Given the description of an element on the screen output the (x, y) to click on. 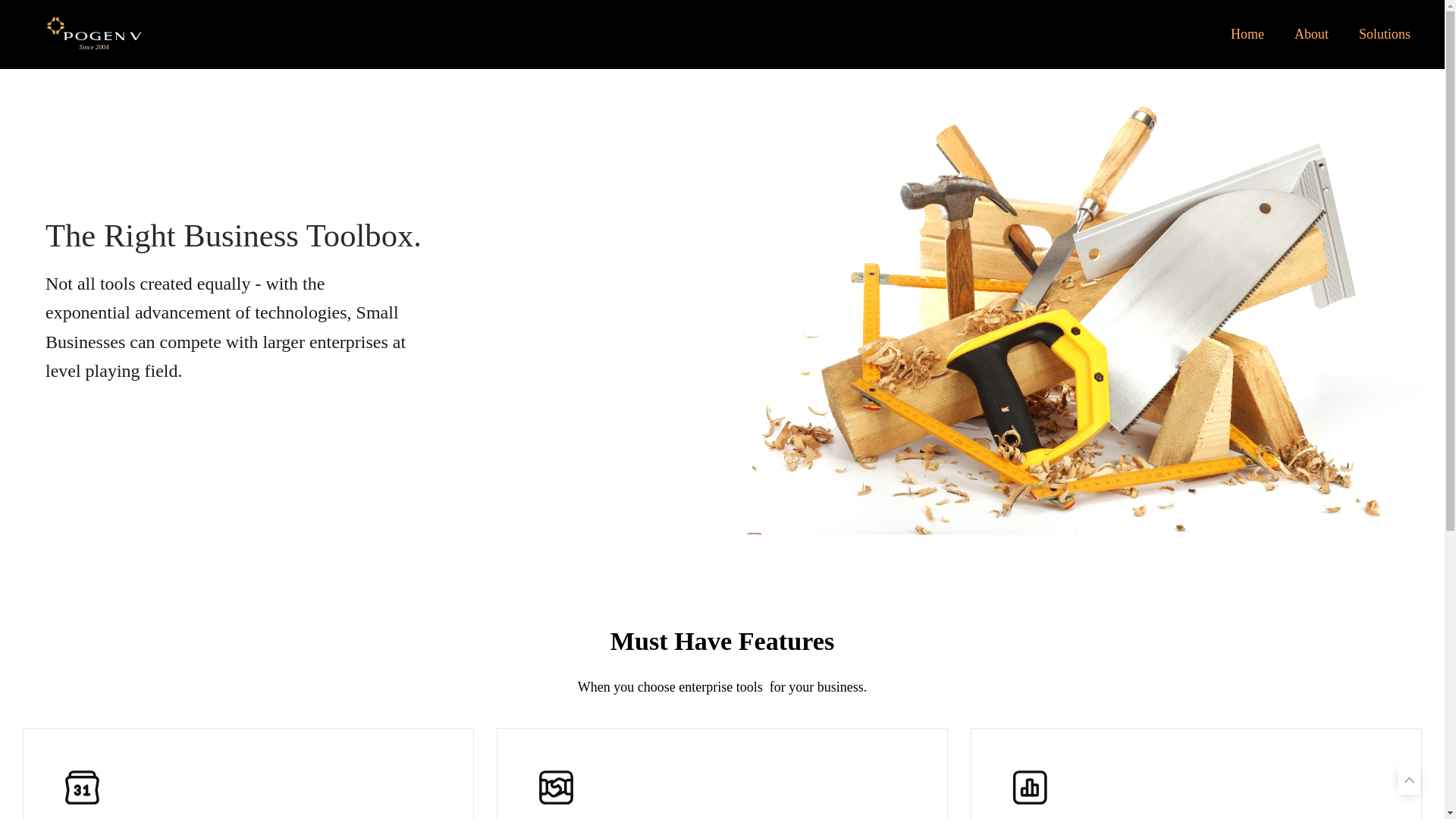
Solutions (1384, 34)
About (1311, 34)
Since 2004 (93, 33)
Home (1247, 34)
